Given the description of an element on the screen output the (x, y) to click on. 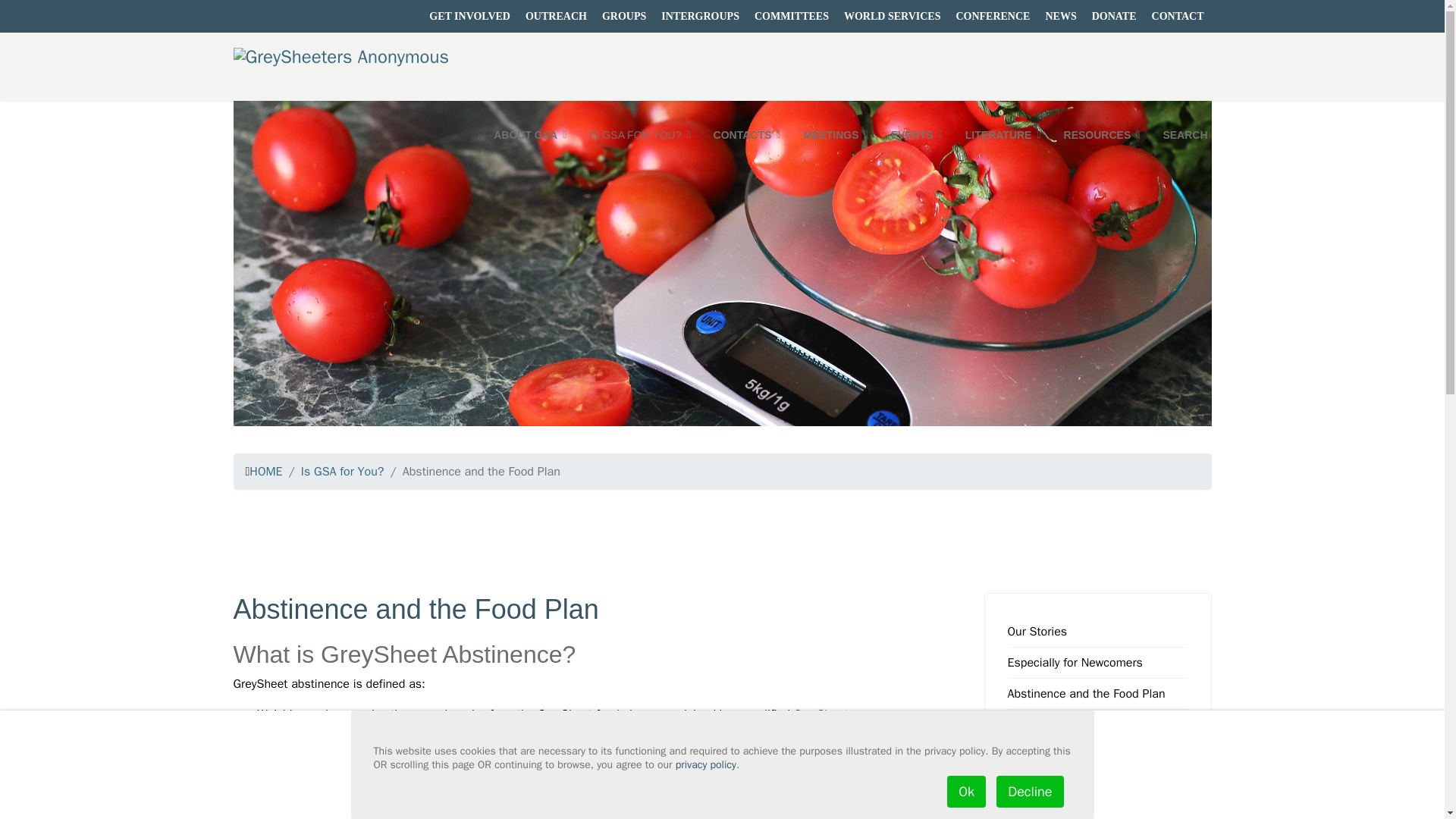
OUTREACH (556, 15)
GET INVOLVED (470, 15)
INTERGROUPS (699, 15)
GROUPS (623, 15)
